Given the description of an element on the screen output the (x, y) to click on. 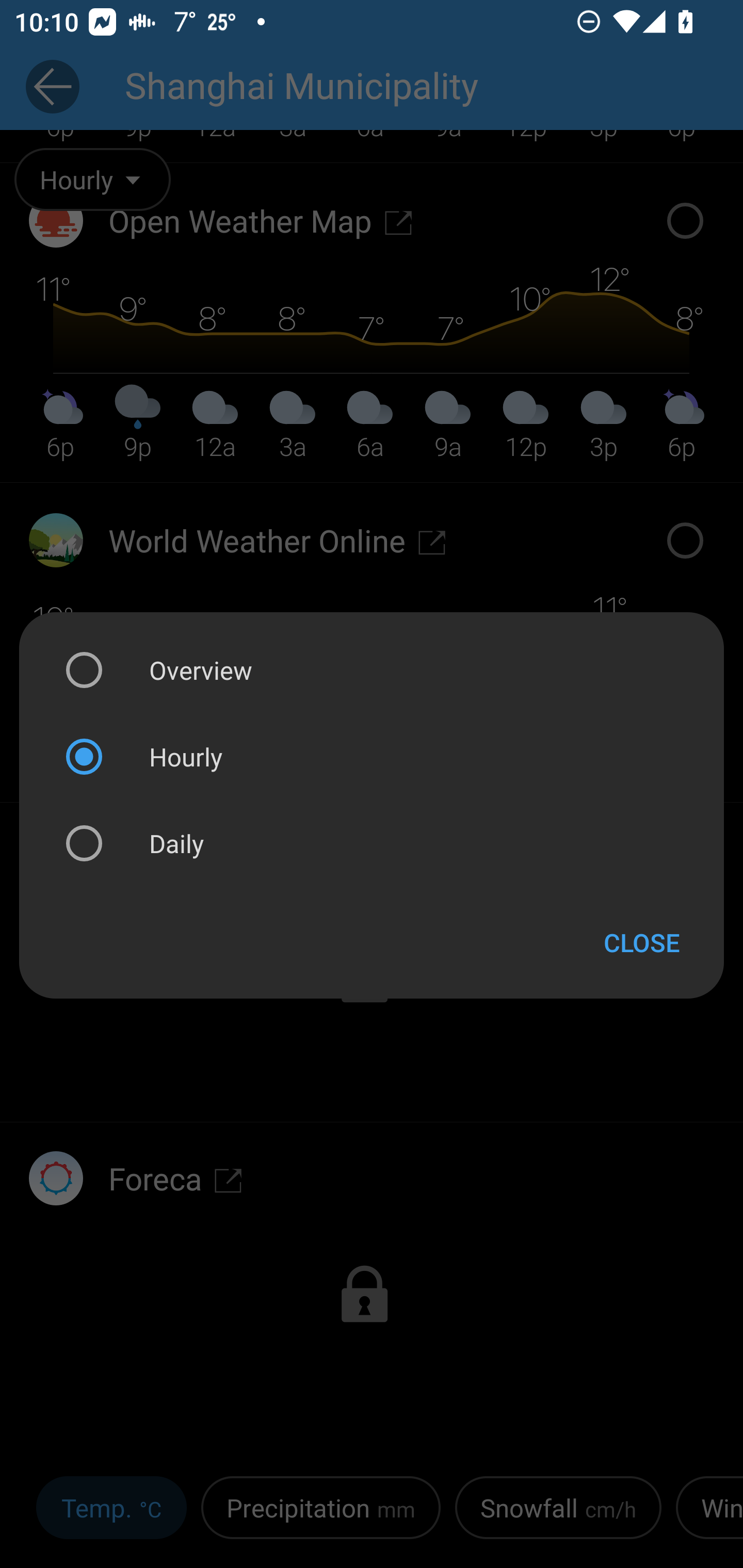
Overview (371, 670)
Hourly (371, 756)
Daily (371, 842)
CLOSE (641, 941)
